Given the description of an element on the screen output the (x, y) to click on. 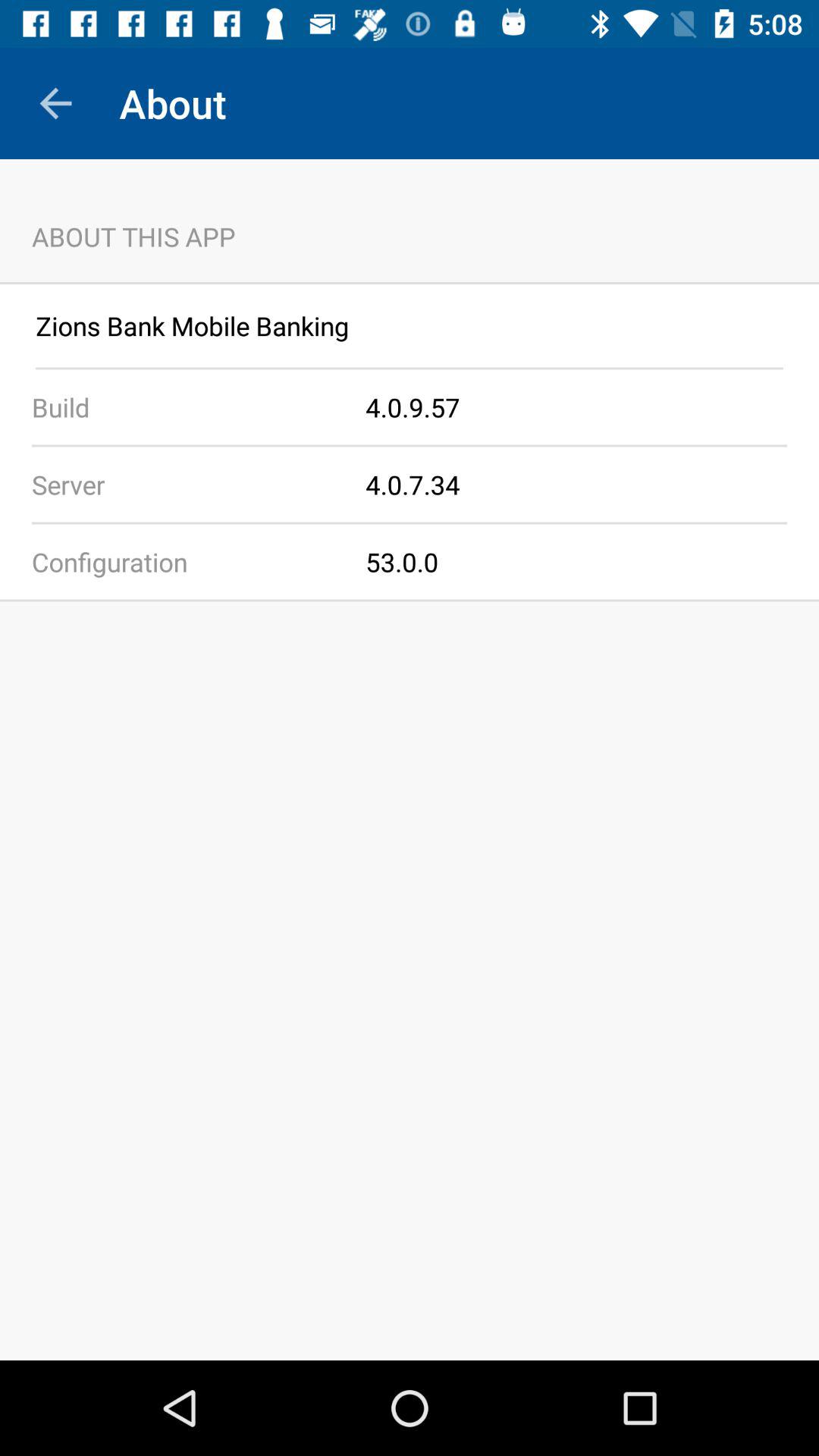
turn off zions bank mobile app (409, 325)
